Given the description of an element on the screen output the (x, y) to click on. 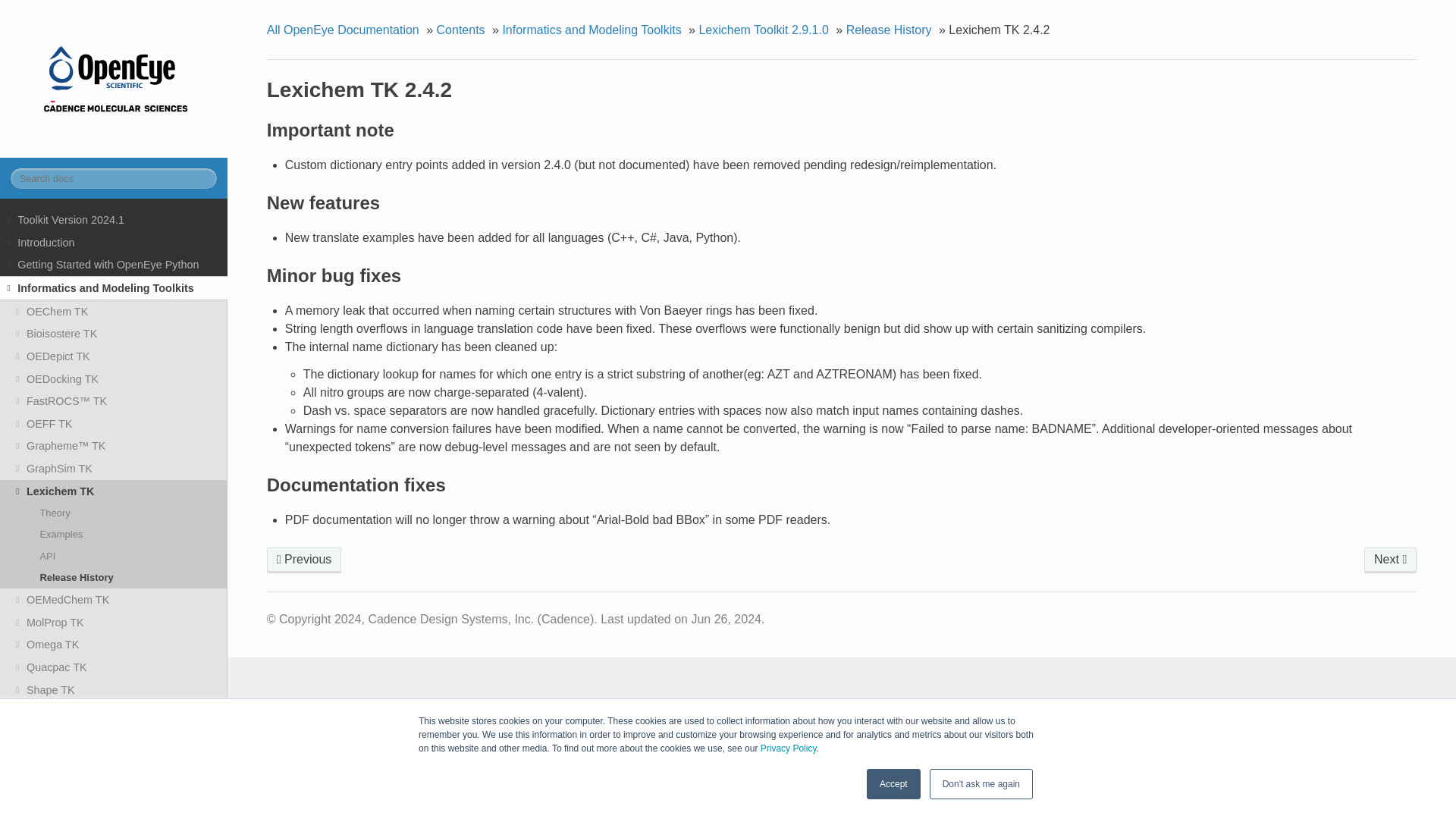
Toolkit Version 2024.1 (113, 219)
Lexichem TK 2.5.0 (304, 560)
Privacy Policy (788, 747)
Don't ask me again (981, 784)
Lexichem TK 2.4.1 (1390, 560)
Accept (893, 784)
